Given the description of an element on the screen output the (x, y) to click on. 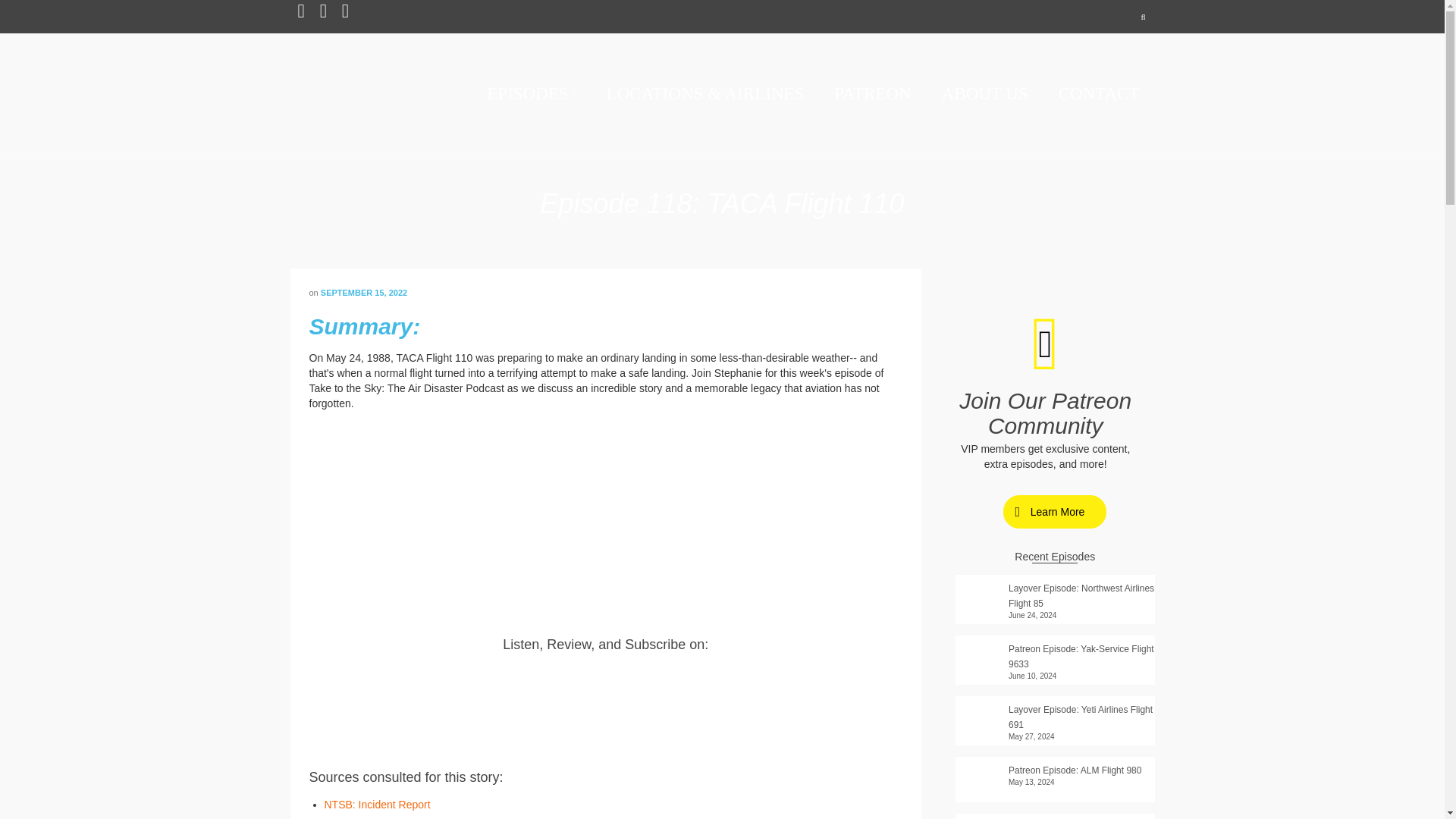
NTSB: Incident Report (377, 804)
Layover Episode: Northwest Airlines Flight 85 (1054, 592)
EPISODES (531, 93)
CONTACT (1098, 93)
ABOUT US (984, 93)
Patreon Episode: Yak-Service Flight 9633 (1054, 653)
